Given the description of an element on the screen output the (x, y) to click on. 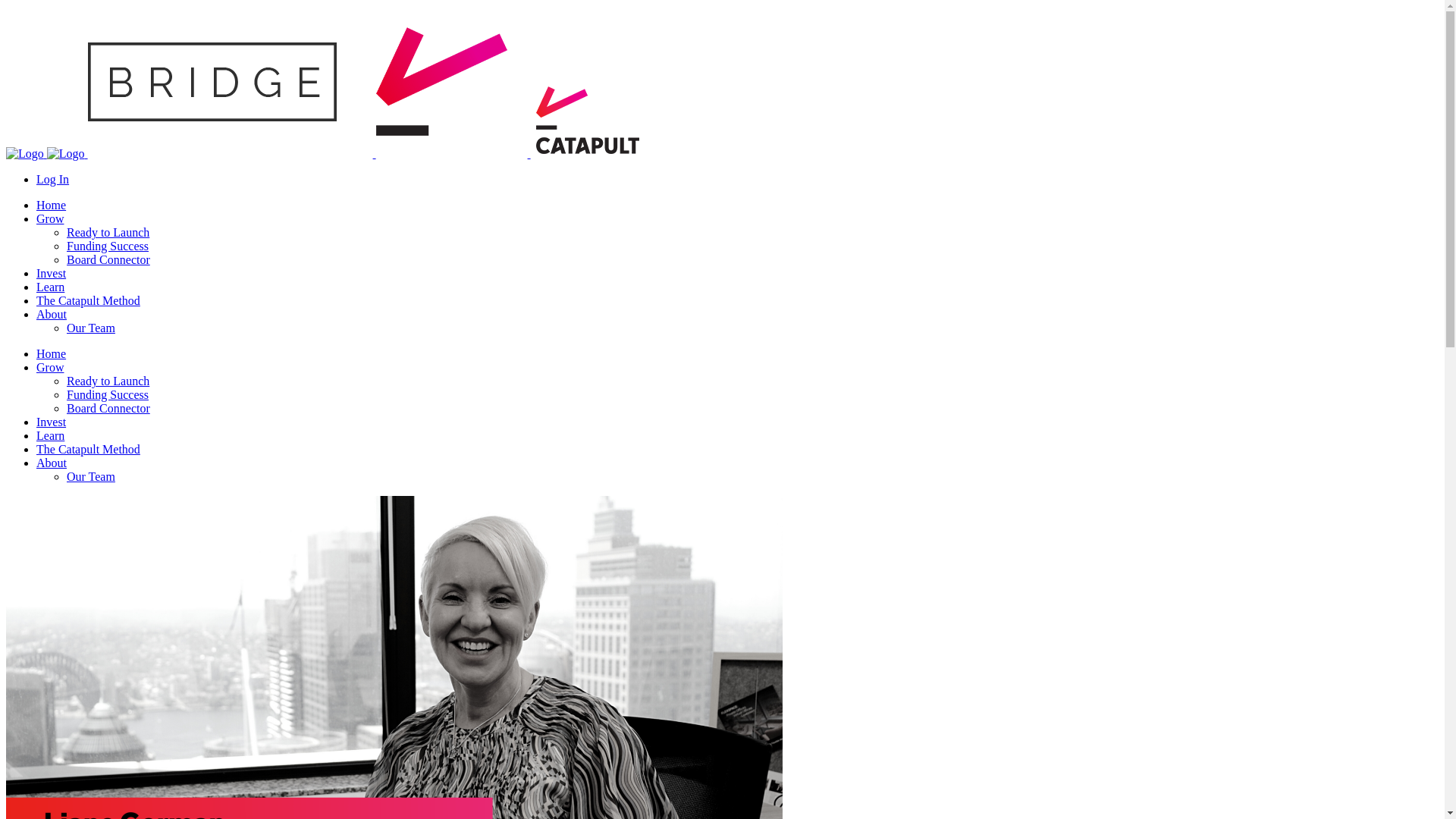
Log In Element type: text (52, 178)
Board Connector Element type: text (108, 259)
Funding Success Element type: text (107, 245)
Ready to Launch Element type: text (107, 231)
About Element type: text (51, 313)
Learn Element type: text (50, 435)
Grow Element type: text (49, 366)
Our Team Element type: text (90, 327)
The Catapult Method Element type: text (88, 300)
Funding Success Element type: text (107, 394)
Home Element type: text (50, 204)
Our Team Element type: text (90, 476)
Grow Element type: text (49, 218)
Learn Element type: text (50, 286)
Ready to Launch Element type: text (107, 380)
The Catapult Method Element type: text (88, 448)
Invest Element type: text (50, 272)
Home Element type: text (50, 353)
Board Connector Element type: text (108, 407)
About Element type: text (51, 462)
Invest Element type: text (50, 421)
